Given the description of an element on the screen output the (x, y) to click on. 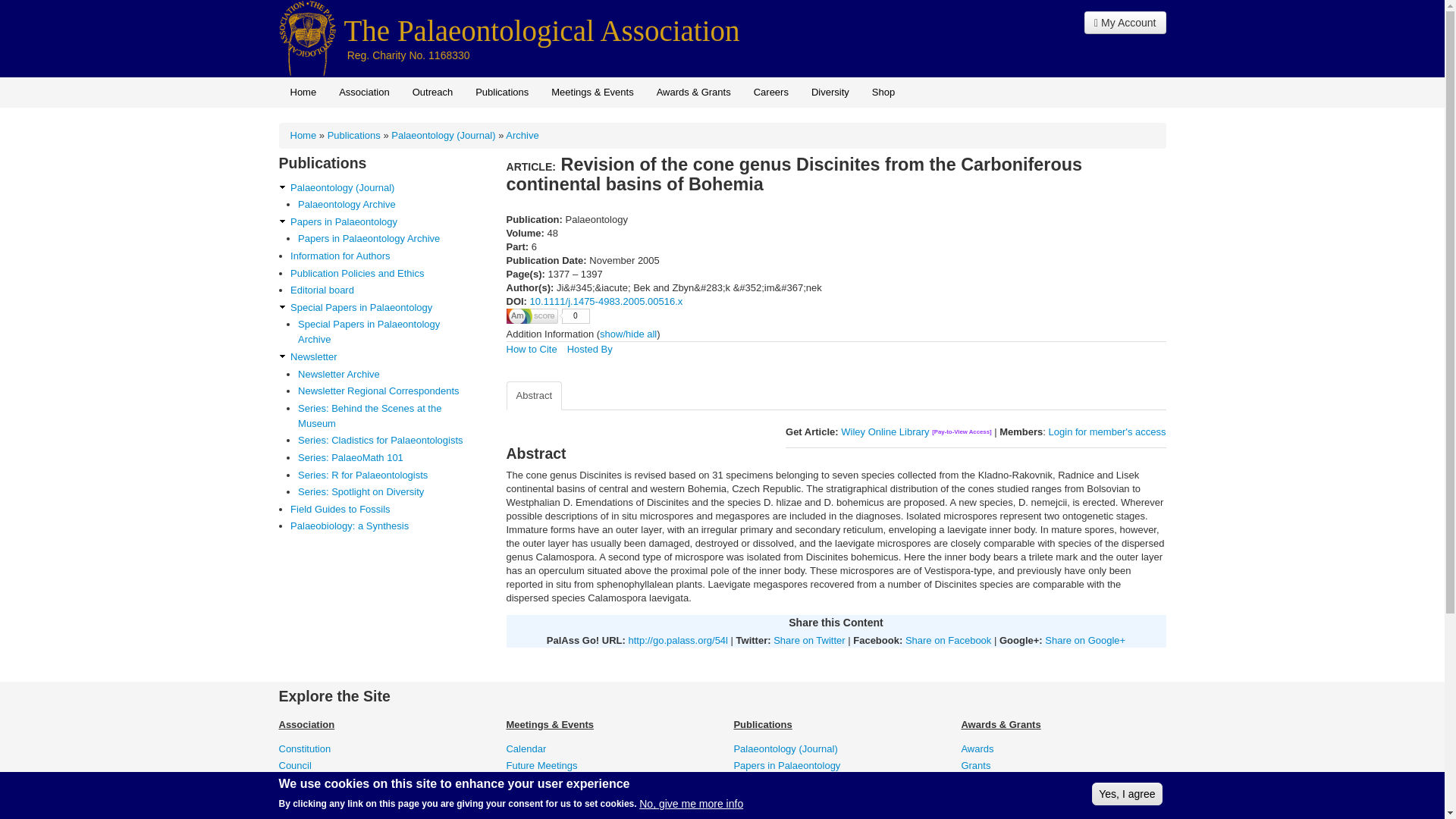
Newsletter Regional Correspondents (385, 391)
Information about The Palaeontological Association. (363, 91)
Series: PalaeoMath 101 (385, 458)
Information for Authors (384, 255)
Special Papers in Palaeontology Archive (385, 331)
Home (541, 30)
Archive (521, 134)
Home (307, 37)
Publication Policies and Ethics (384, 273)
Home (304, 91)
Field Guides to Fossils (384, 509)
